Given the description of an element on the screen output the (x, y) to click on. 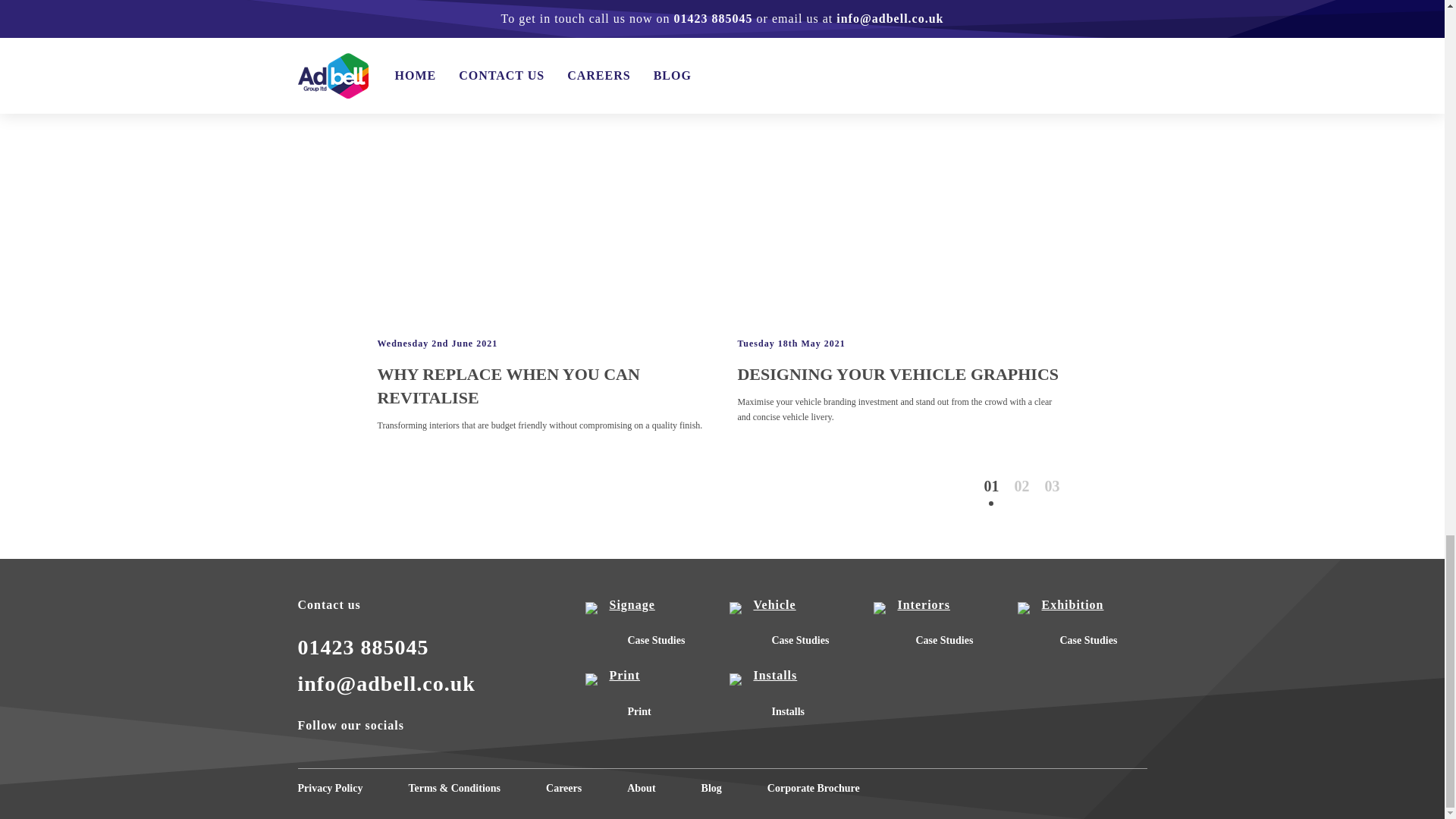
Signage (649, 608)
Vehicle (794, 608)
Case Studies (799, 640)
Case Studies (655, 640)
Exhibition (1082, 608)
02 (1021, 485)
Interiors (938, 608)
Case Studies (943, 640)
01 (991, 485)
01423 885045 (362, 647)
03 (1051, 485)
